Given the description of an element on the screen output the (x, y) to click on. 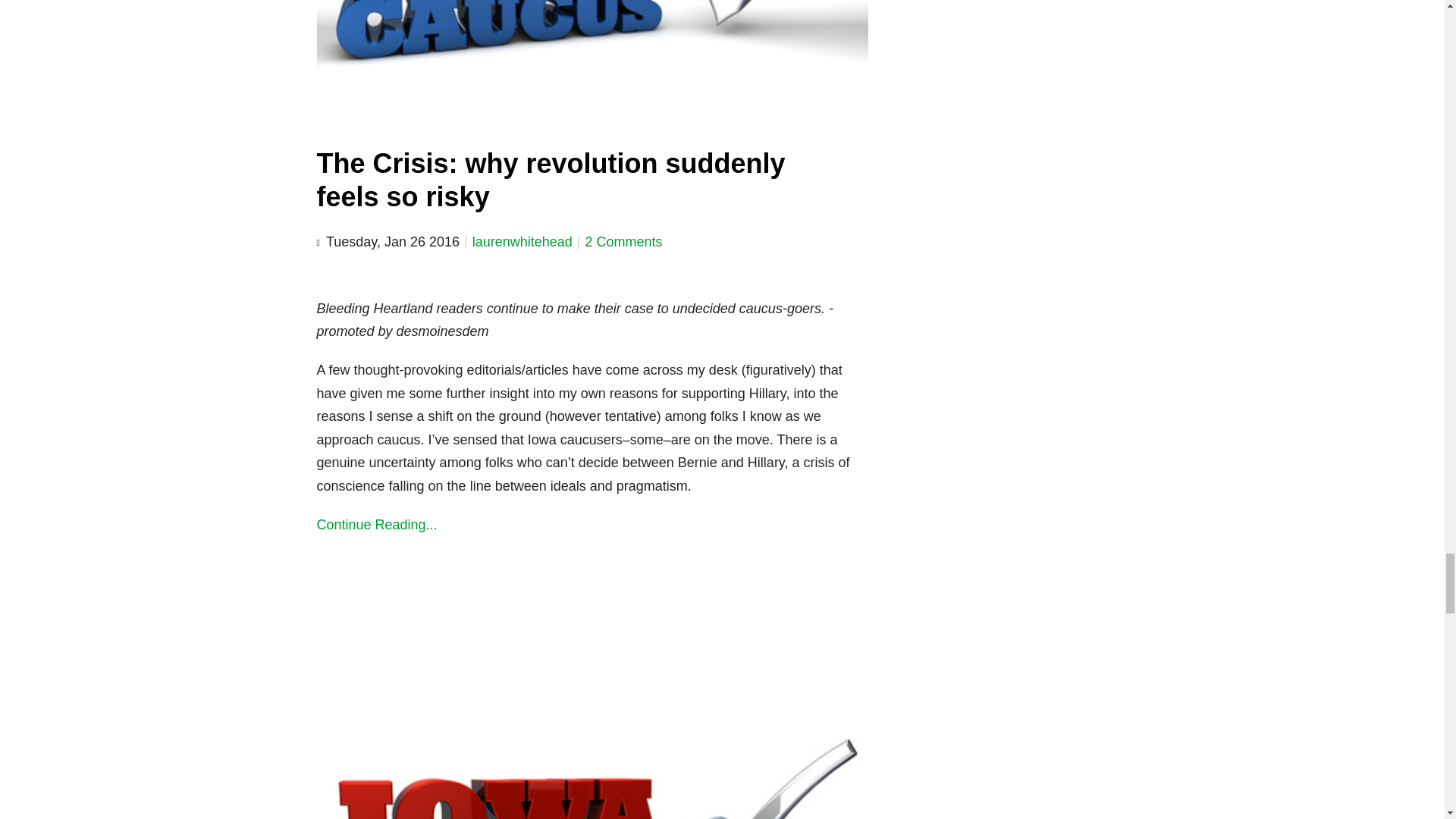
comments (623, 241)
